Given the description of an element on the screen output the (x, y) to click on. 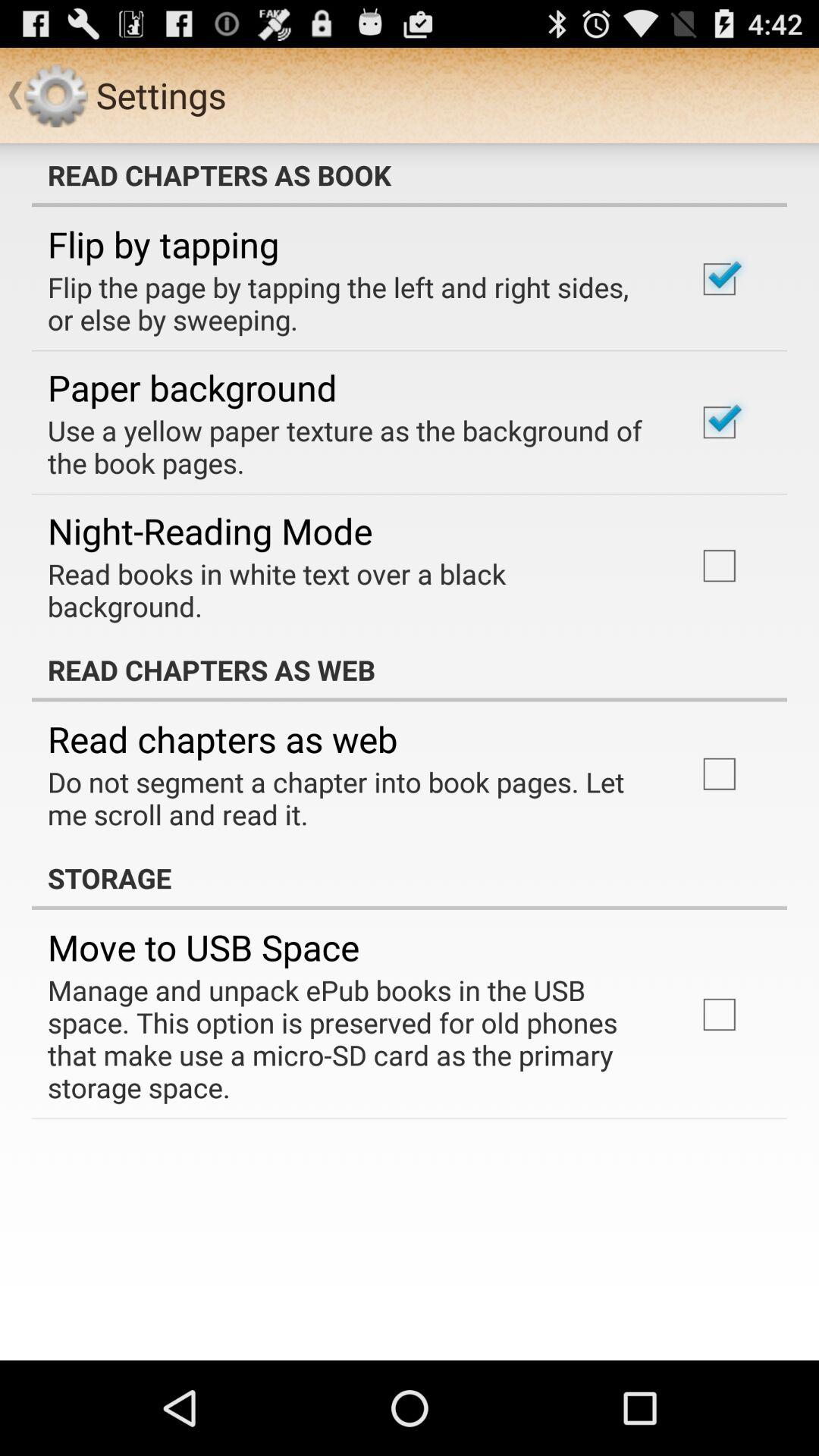
scroll to the night-reading mode app (209, 530)
